Given the description of an element on the screen output the (x, y) to click on. 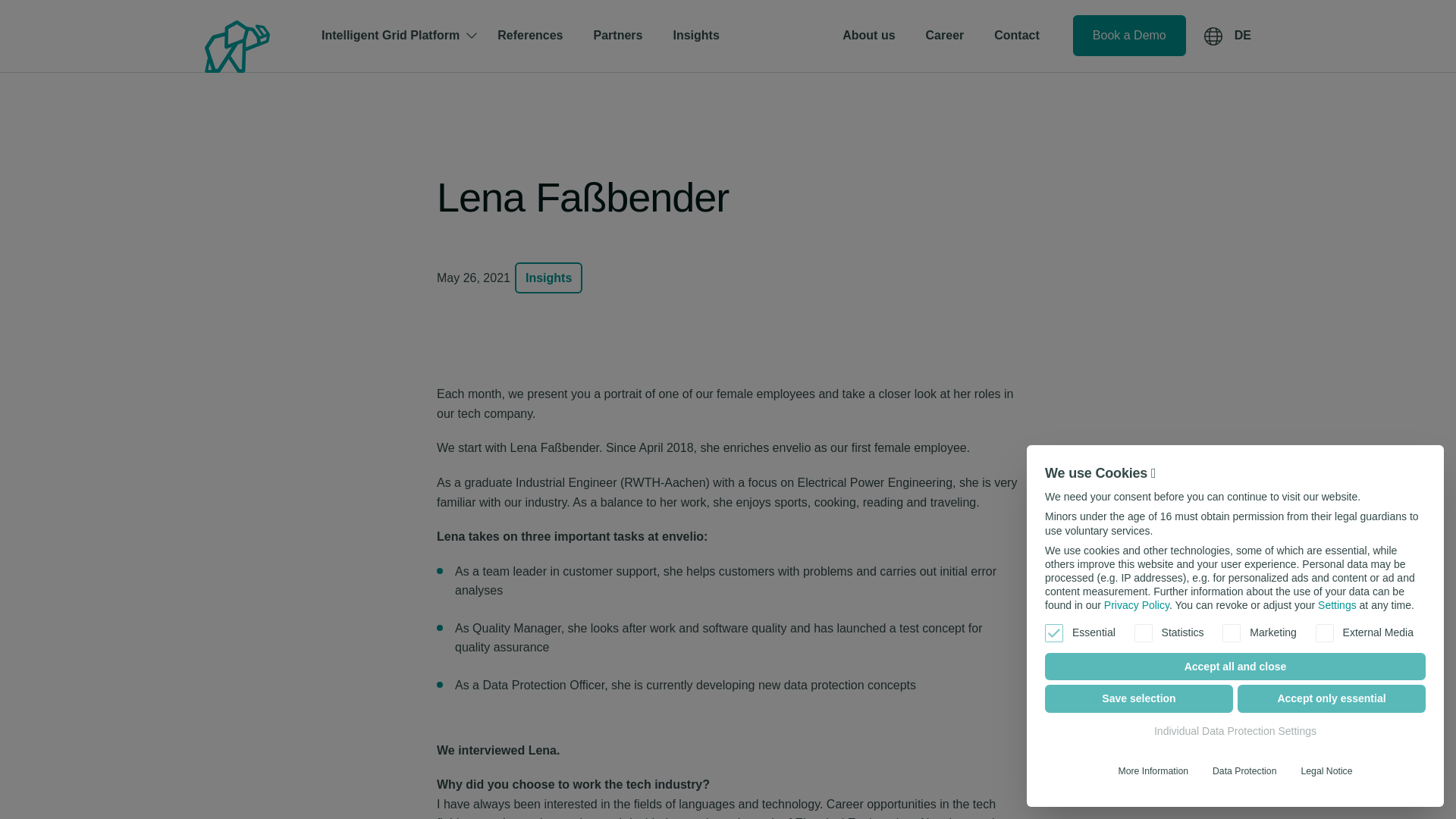
on (1143, 633)
Partners (618, 35)
Insights (548, 278)
About us (868, 35)
on (1231, 633)
Insights (695, 35)
on (1324, 633)
on (1053, 633)
Book a Demo (1129, 35)
Contact (1016, 35)
Career (945, 35)
References (529, 35)
